Given the description of an element on the screen output the (x, y) to click on. 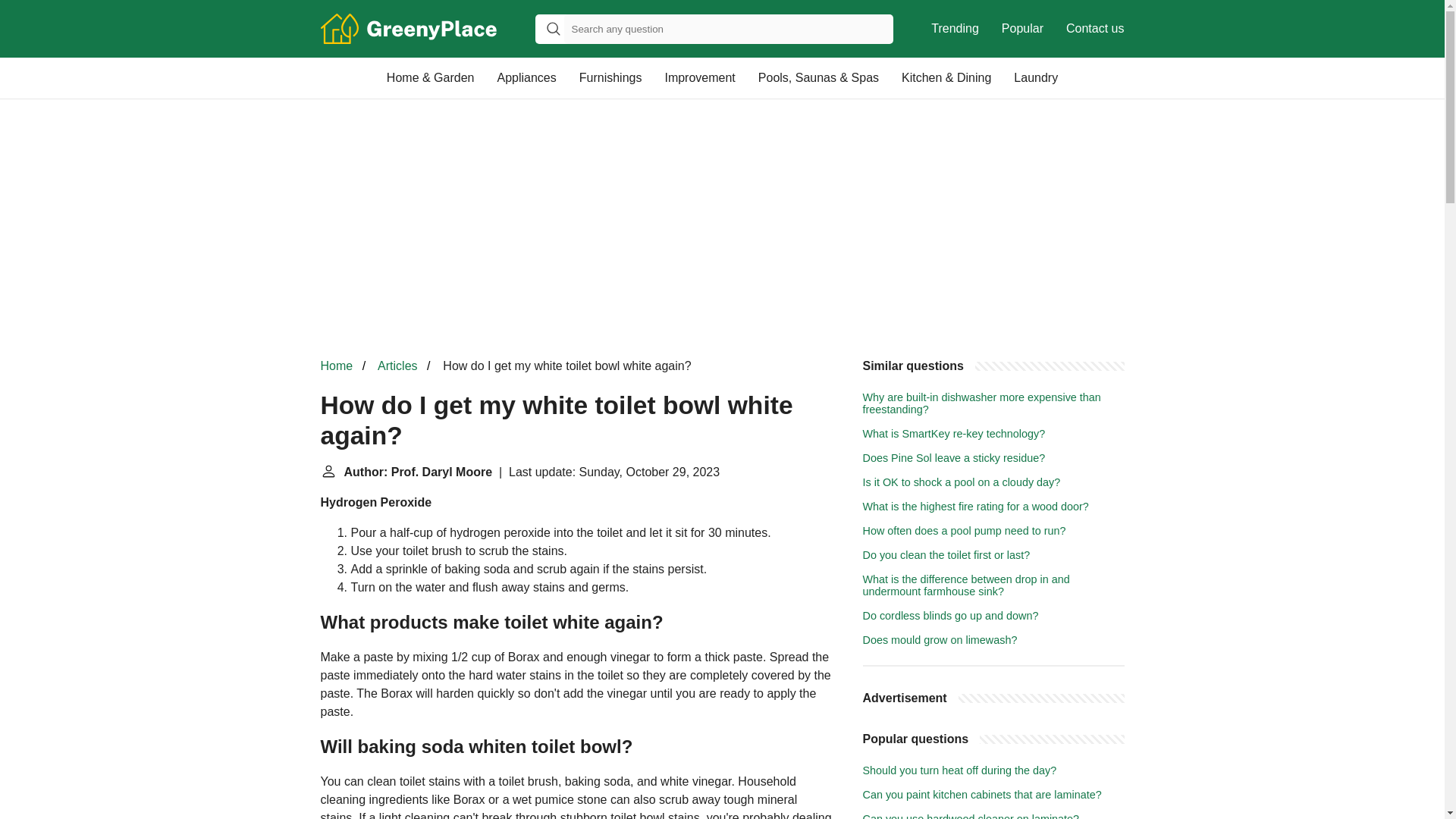
Appliances (525, 77)
Should you turn heat off during the day? (960, 770)
Is it OK to shock a pool on a cloudy day? (962, 481)
Can you use hardwood cleaner on laminate? (971, 816)
Contact us (1094, 28)
Furnishings (610, 77)
Articles (396, 365)
Do you clean the toilet first or last? (946, 554)
What is SmartKey re-key technology? (954, 433)
How often does a pool pump need to run? (964, 530)
Does Pine Sol leave a sticky residue? (954, 458)
Trending (954, 28)
Does mould grow on limewash? (940, 639)
